Given the description of an element on the screen output the (x, y) to click on. 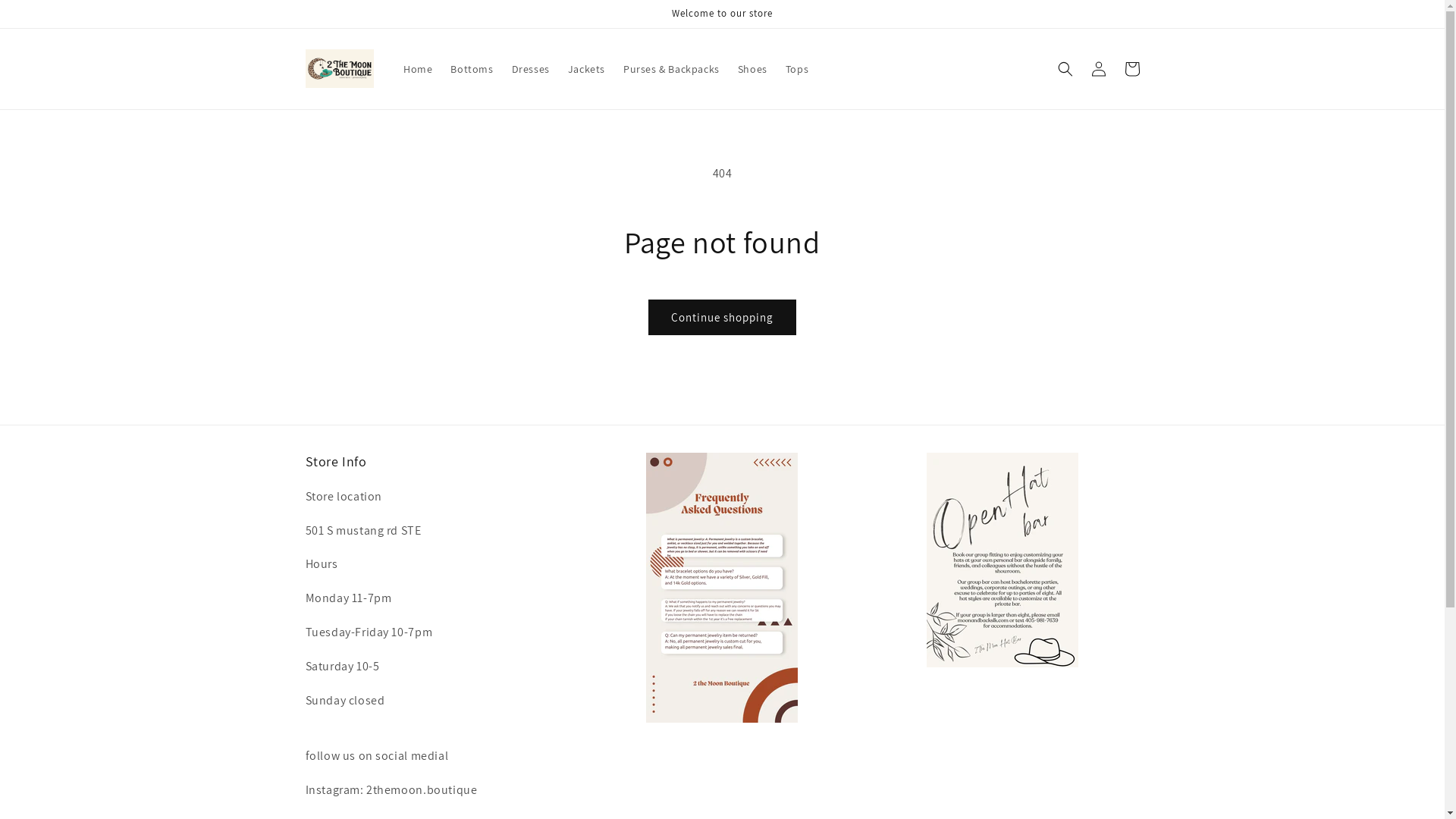
Continue shopping Element type: text (722, 317)
Log in Element type: text (1097, 68)
Purses & Backpacks Element type: text (671, 68)
Jackets Element type: text (586, 68)
Tops Element type: text (796, 68)
Dresses Element type: text (530, 68)
Shoes Element type: text (752, 68)
Bottoms Element type: text (471, 68)
Home Element type: text (417, 68)
Cart Element type: text (1131, 68)
